Given the description of an element on the screen output the (x, y) to click on. 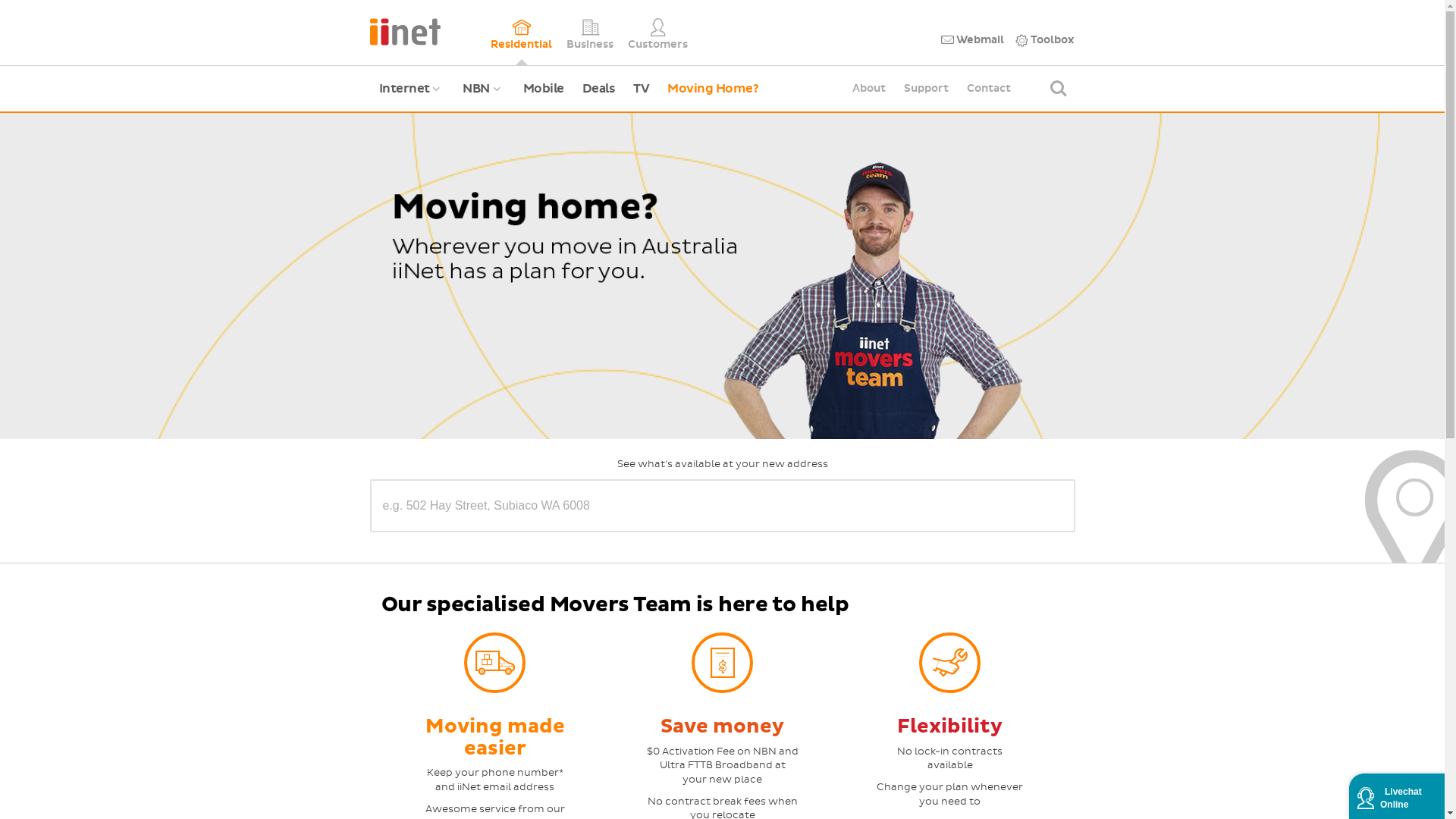
Deals Element type: text (598, 88)
Mobile Element type: text (543, 88)
Moving Home? Element type: text (712, 88)
Residential Element type: text (521, 32)
TV Element type: text (641, 88)
Business Element type: text (589, 32)
Webmail Element type: text (972, 40)
Toolbox Element type: text (1044, 40)
iiNet logo Element type: hover (405, 30)
Customers Element type: text (657, 32)
About Element type: text (868, 88)
Contact Element type: text (988, 88)
Skip to main content Element type: text (0, 0)
Support Element type: text (925, 88)
